Given the description of an element on the screen output the (x, y) to click on. 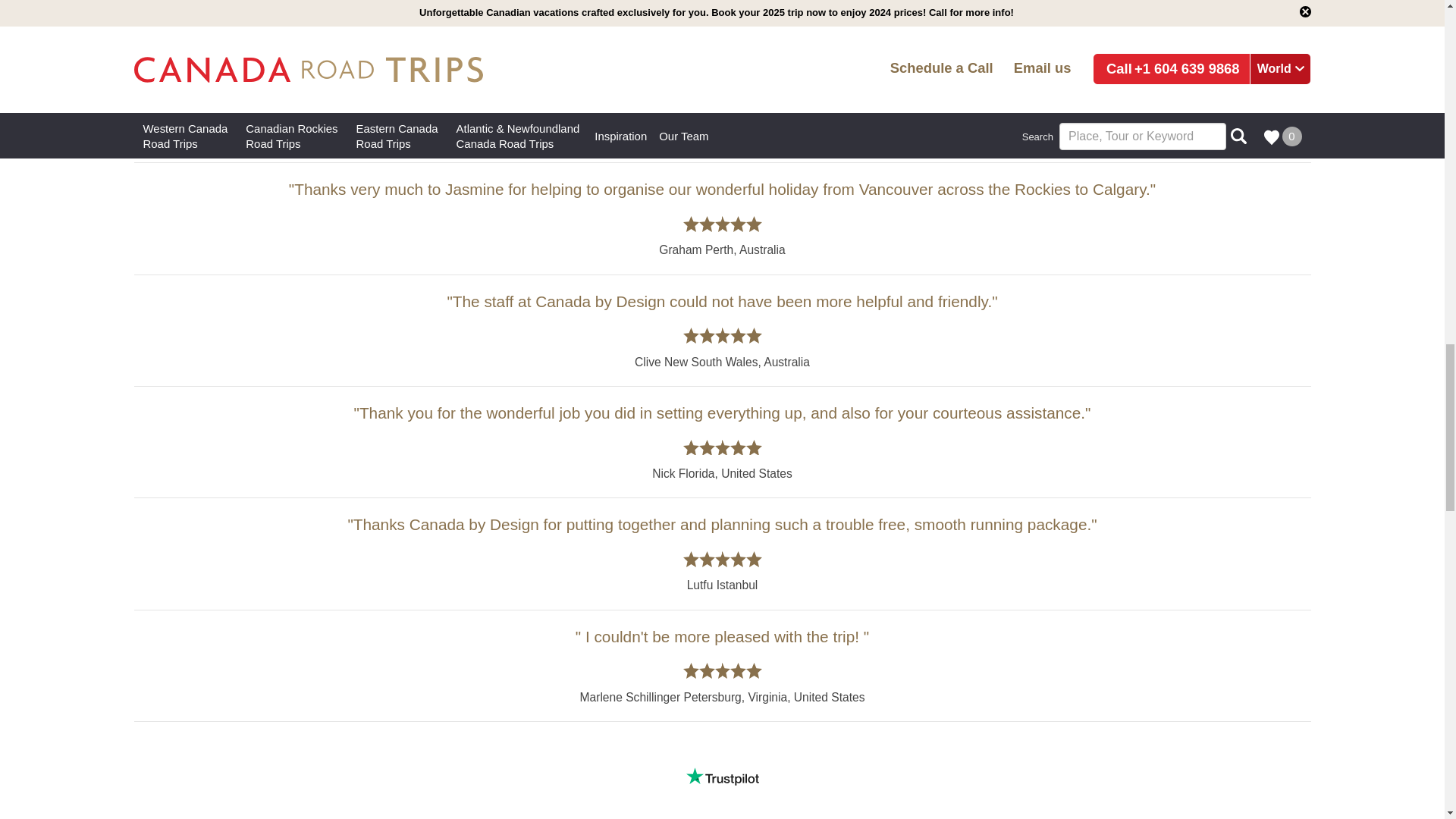
Customer reviews powered by Trustpilot (722, 776)
